Given the description of an element on the screen output the (x, y) to click on. 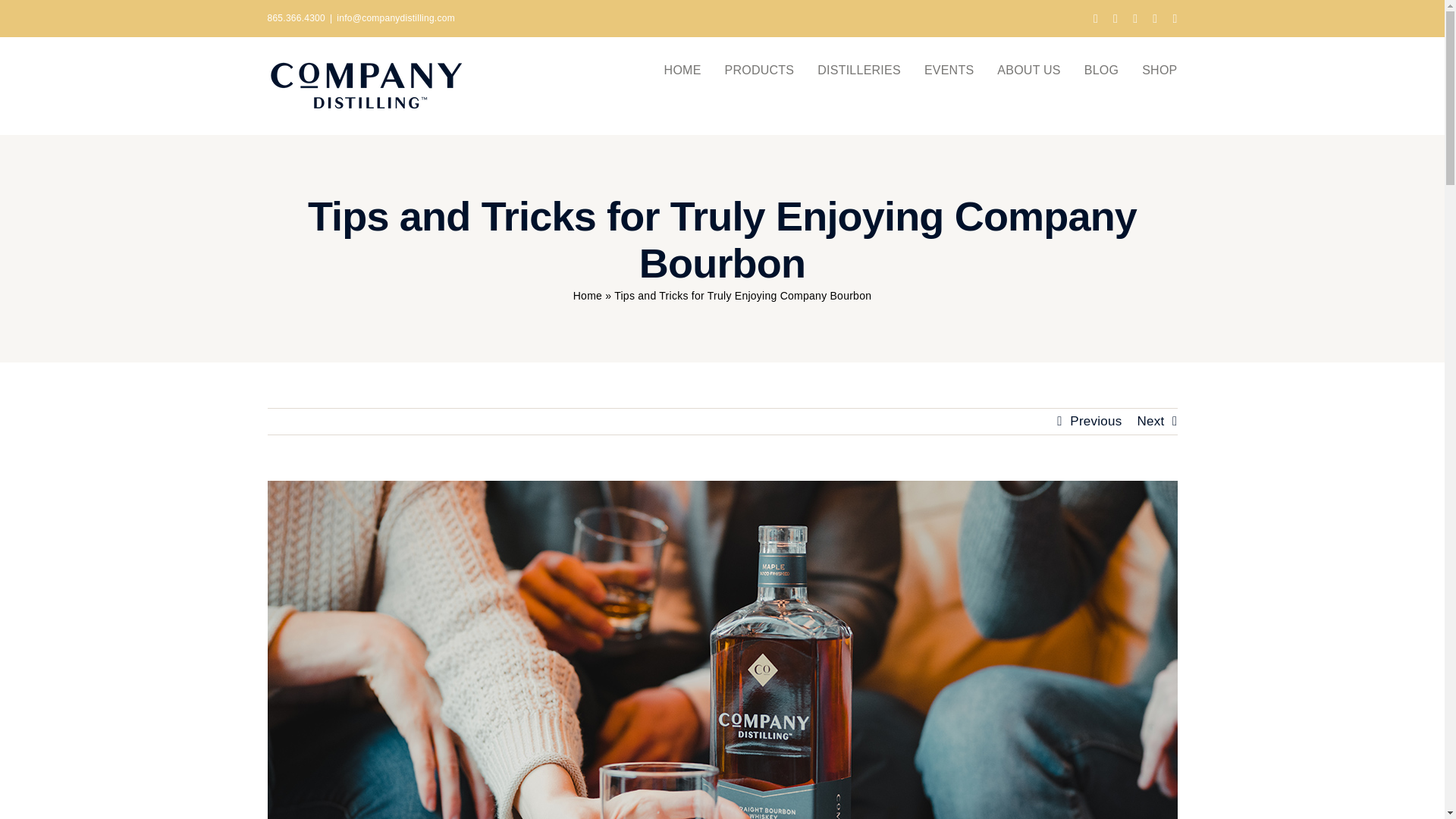
DISTILLERIES (858, 68)
PRODUCTS (759, 68)
ABOUT US (1028, 68)
